Given the description of an element on the screen output the (x, y) to click on. 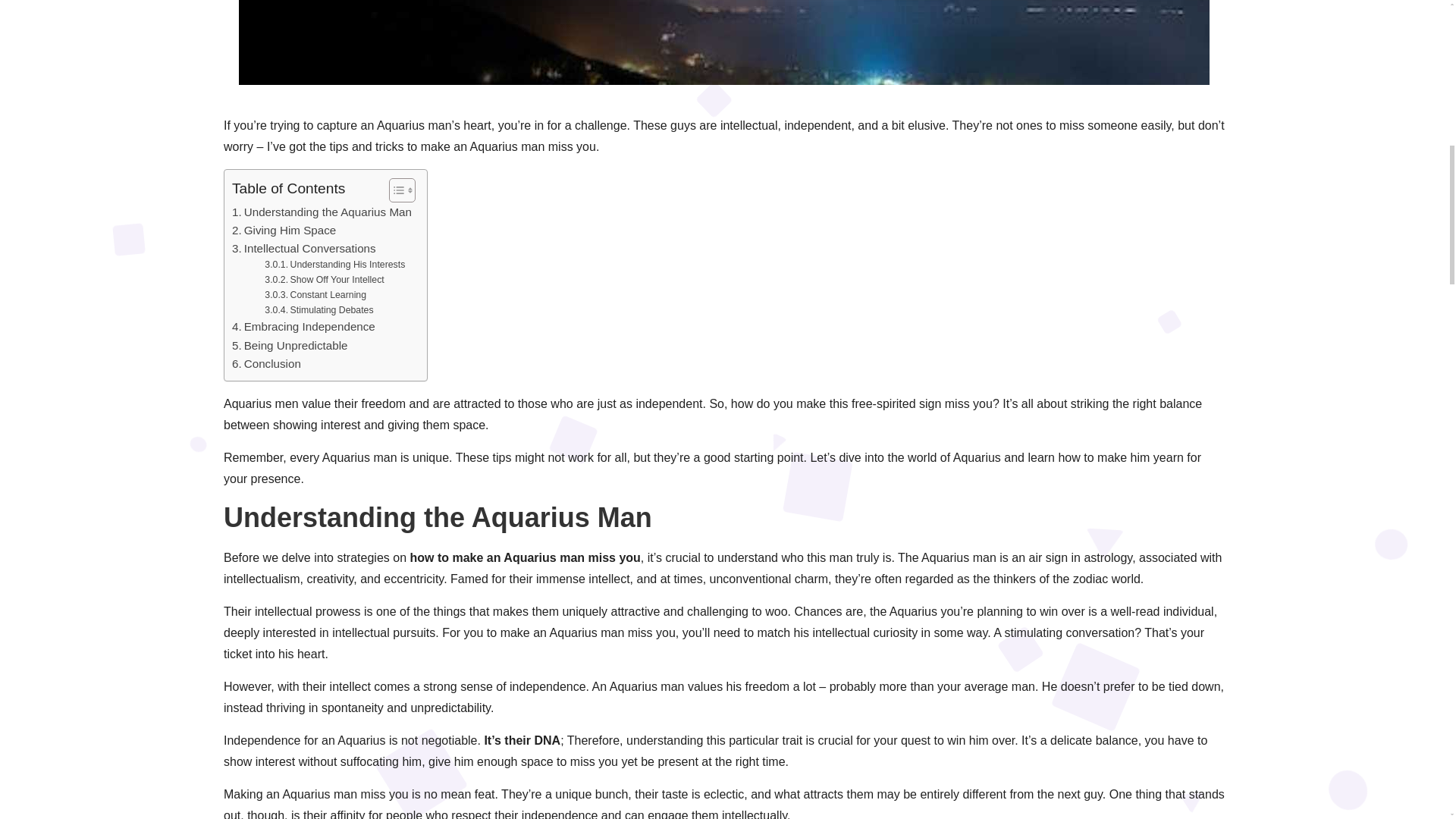
Giving Him Space (283, 230)
Stimulating Debates (318, 310)
Conclusion (266, 363)
Being Unpredictable (289, 345)
Understanding His Interests (334, 264)
Constant Learning (315, 295)
Show Off Your Intellect (324, 280)
Embracing Independence (303, 326)
Understanding the Aquarius Man (321, 212)
Intellectual Conversations (303, 248)
